Given the description of an element on the screen output the (x, y) to click on. 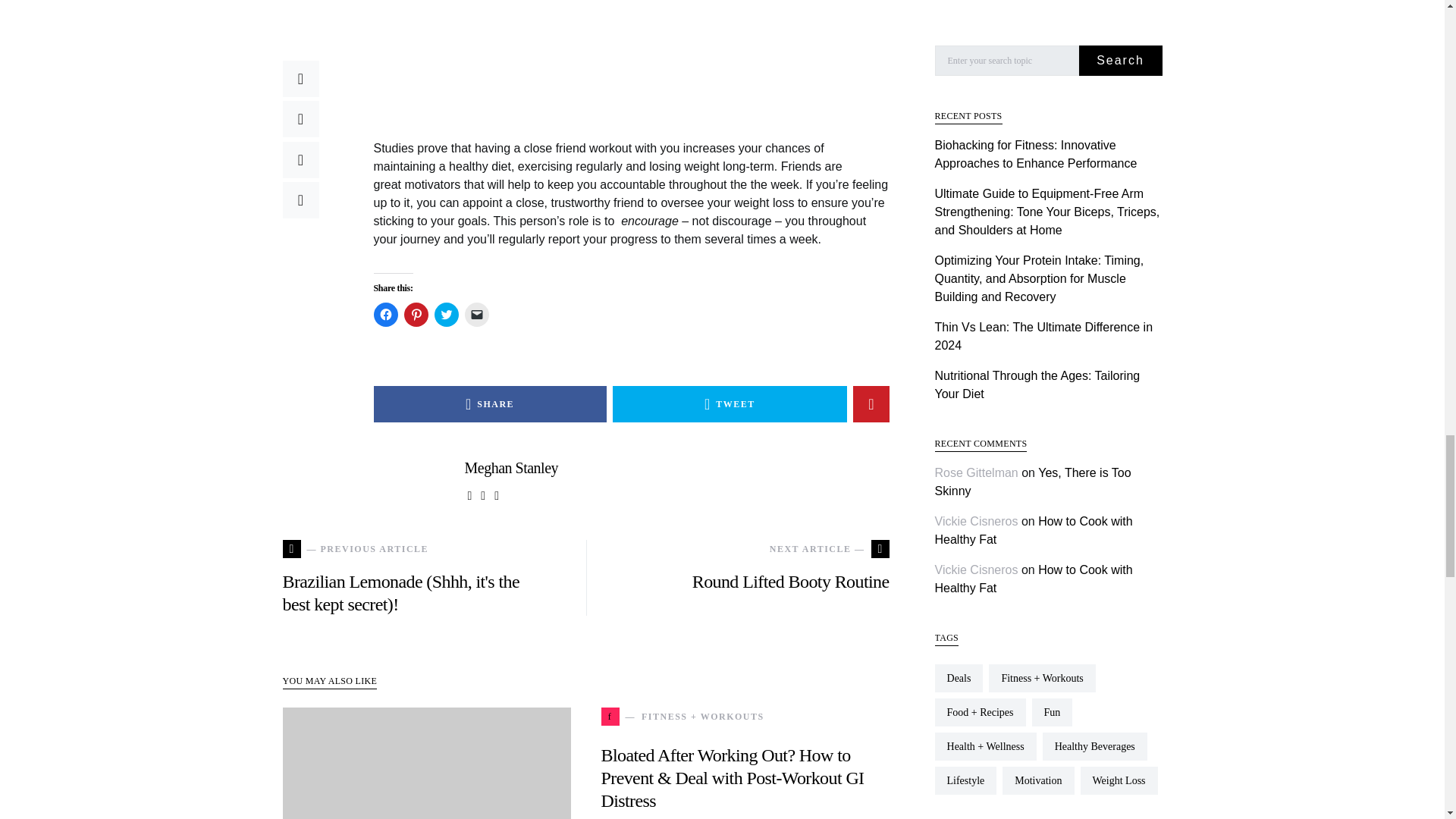
Click to share on Facebook (384, 314)
Click to share on Pinterest (415, 314)
Click to email a link to a friend (475, 314)
Click to share on Twitter (445, 314)
TWEET (729, 403)
Meghan Stanley (510, 467)
SHARE (488, 403)
